Given the description of an element on the screen output the (x, y) to click on. 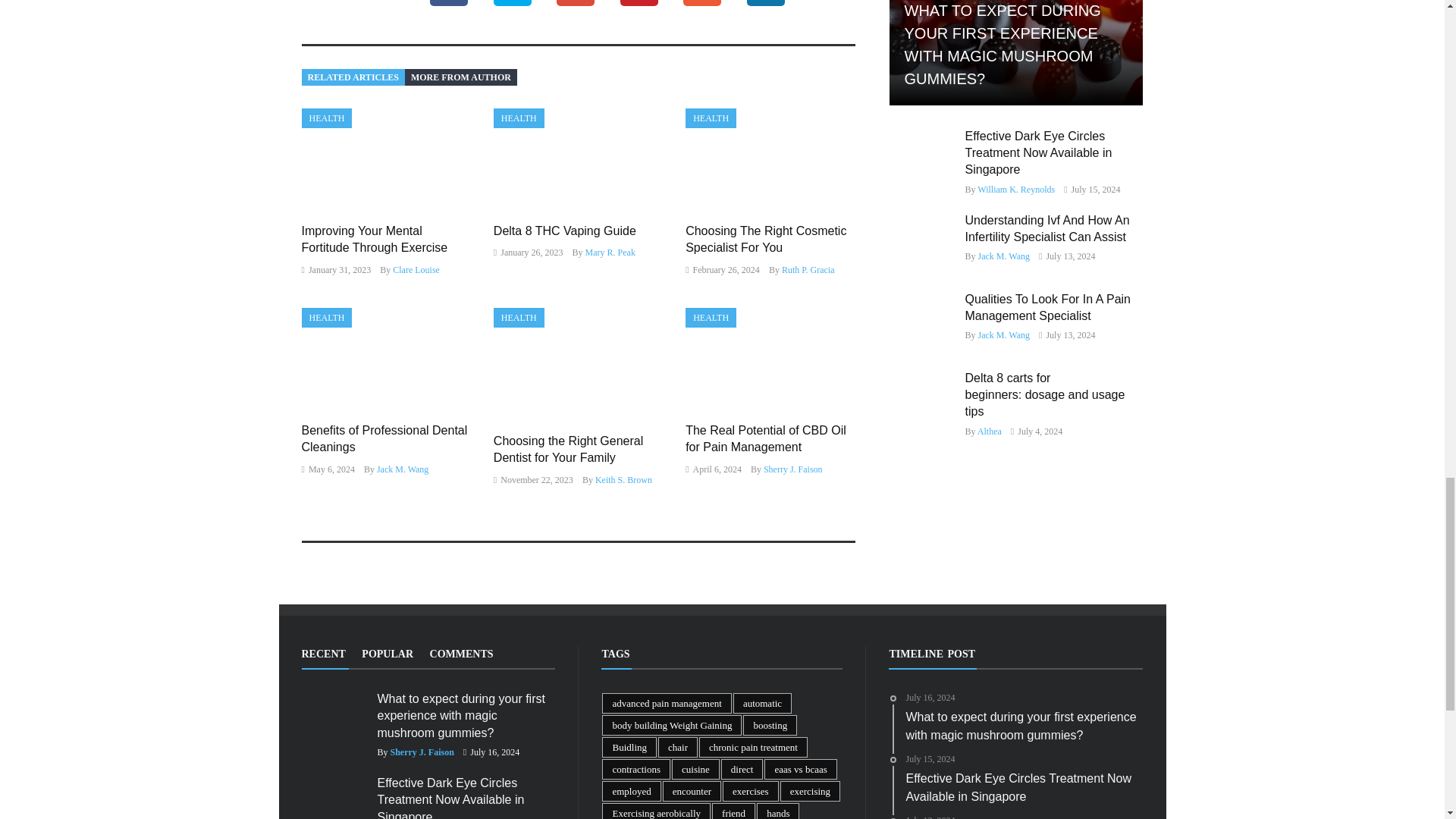
RELATED ARTICLES (352, 76)
